Given the description of an element on the screen output the (x, y) to click on. 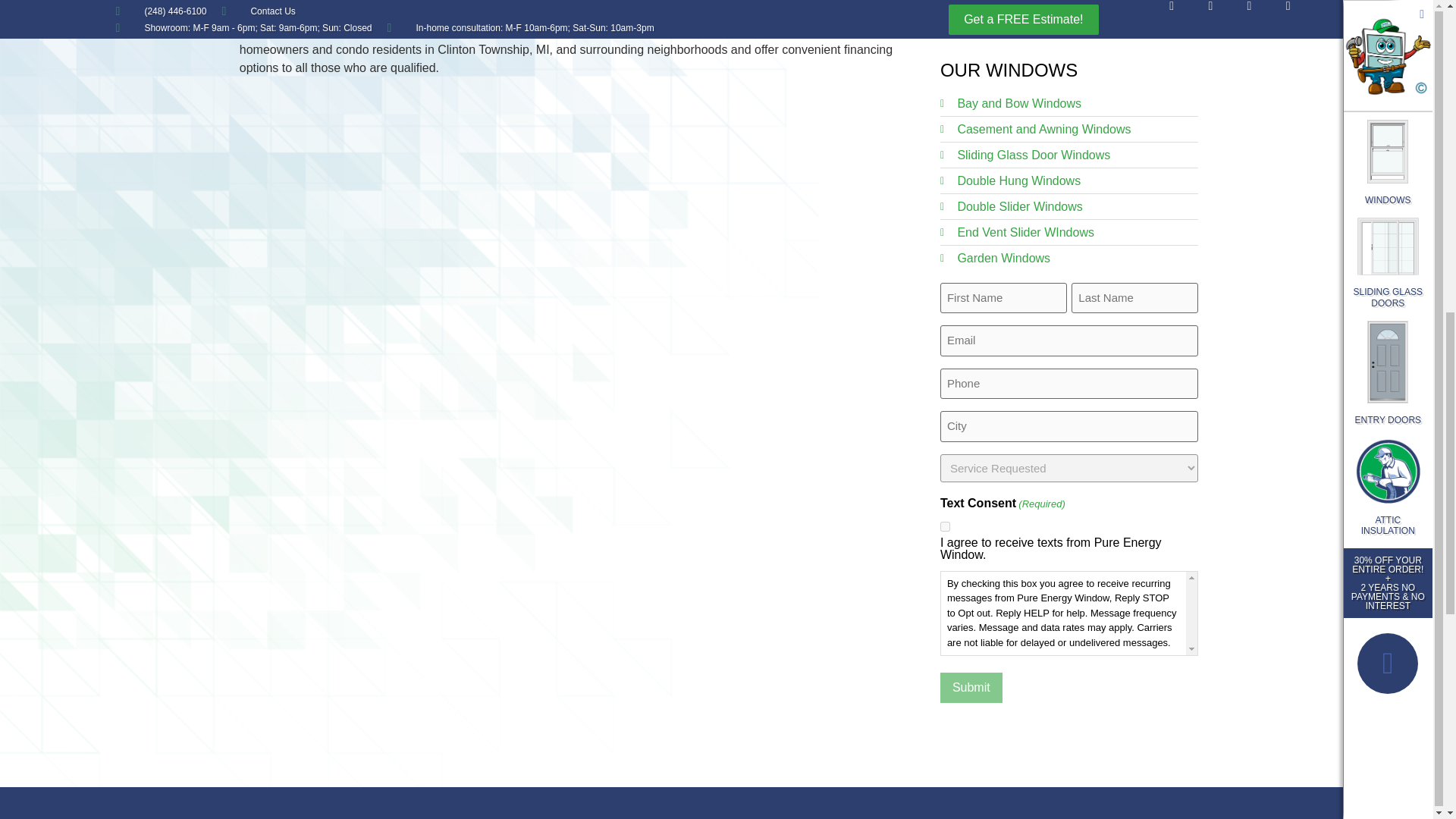
1 (945, 526)
Submit (971, 687)
